Given the description of an element on the screen output the (x, y) to click on. 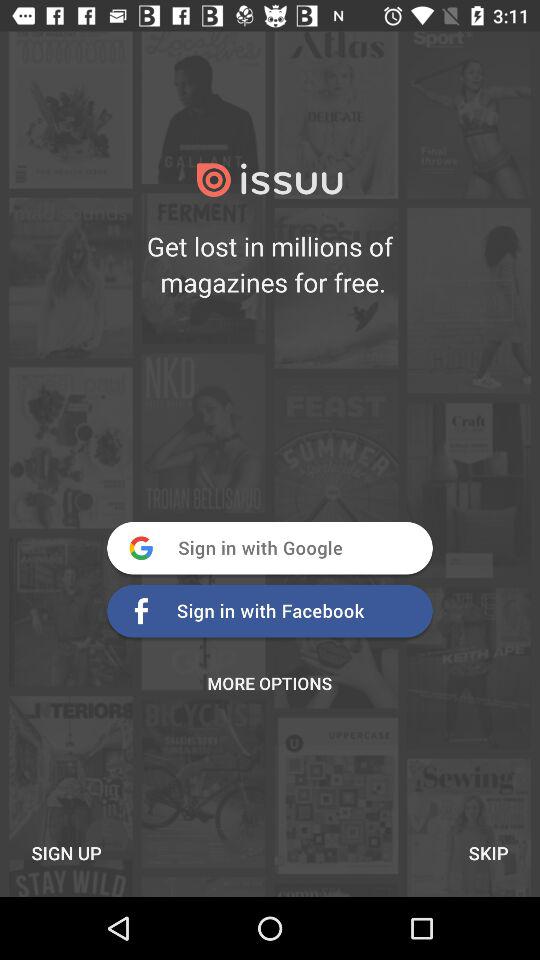
turn on the more options (269, 683)
